Given the description of an element on the screen output the (x, y) to click on. 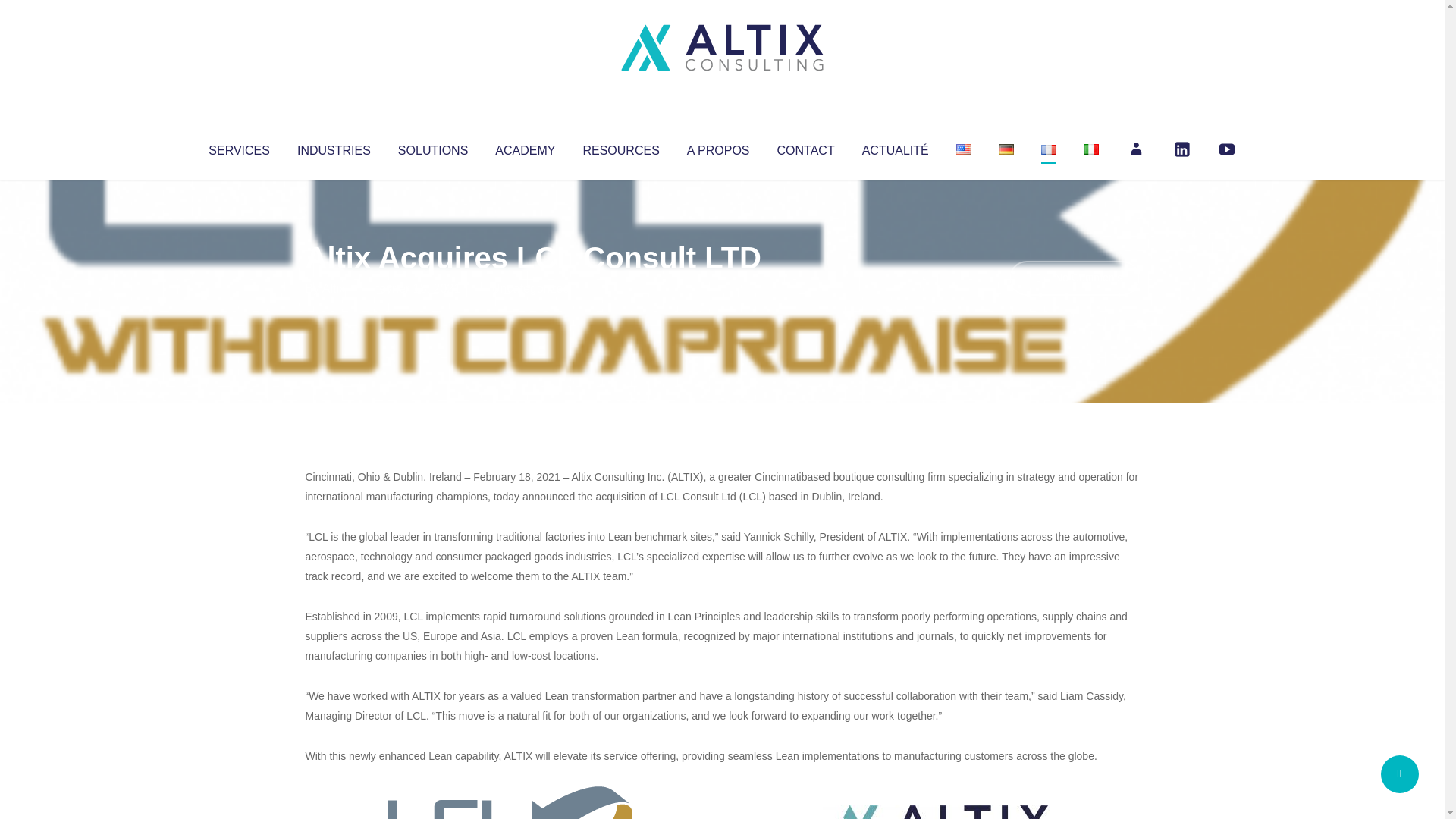
No Comments (1073, 278)
A PROPOS (718, 146)
SOLUTIONS (432, 146)
ACADEMY (524, 146)
SERVICES (238, 146)
Articles par Altix (333, 287)
INDUSTRIES (334, 146)
Uncategorized (530, 287)
RESOURCES (620, 146)
Altix (333, 287)
